Given the description of an element on the screen output the (x, y) to click on. 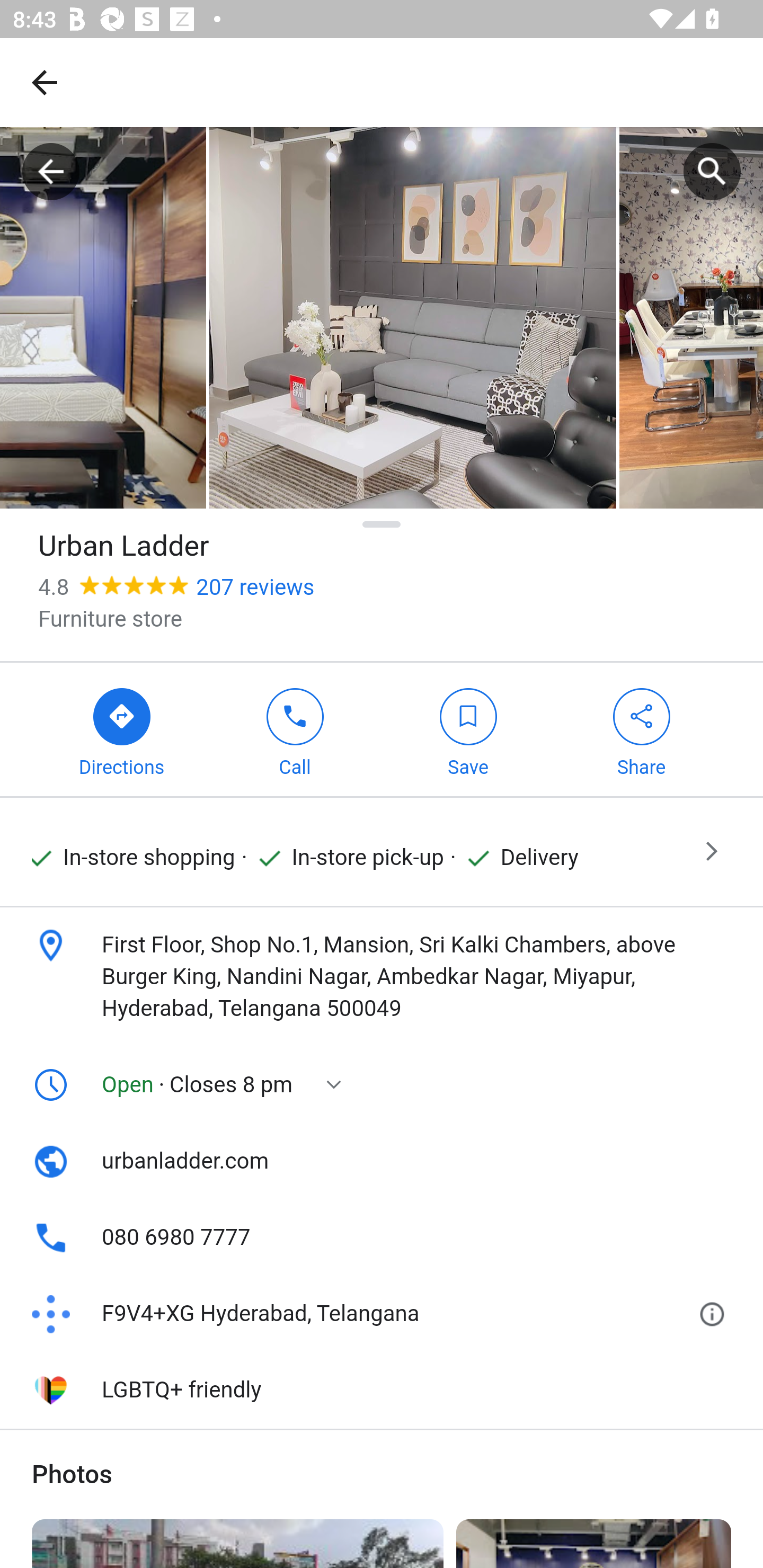
Navigate up (44, 82)
Photo 3 of 10 (412, 317)
Back (50, 171)
Search (711, 171)
Hide details (381, 524)
4.8 stars 207 reviews (176, 587)
Directions to Urban Ladder (121, 729)
Call Urban Ladder  Call (294, 729)
Save Urban Ladder in your lists (467, 729)
Share Urban Ladder (640, 729)
Website: urbanladder.com  urbanladder.com (381, 1161)
Phone: 080 6980 7777  080 6980 7777 (381, 1237)
Plus code: F9V4+XG Hyderabad, Telangana (357, 1313)
Learn more about plus codes (715, 1313)
